Given the description of an element on the screen output the (x, y) to click on. 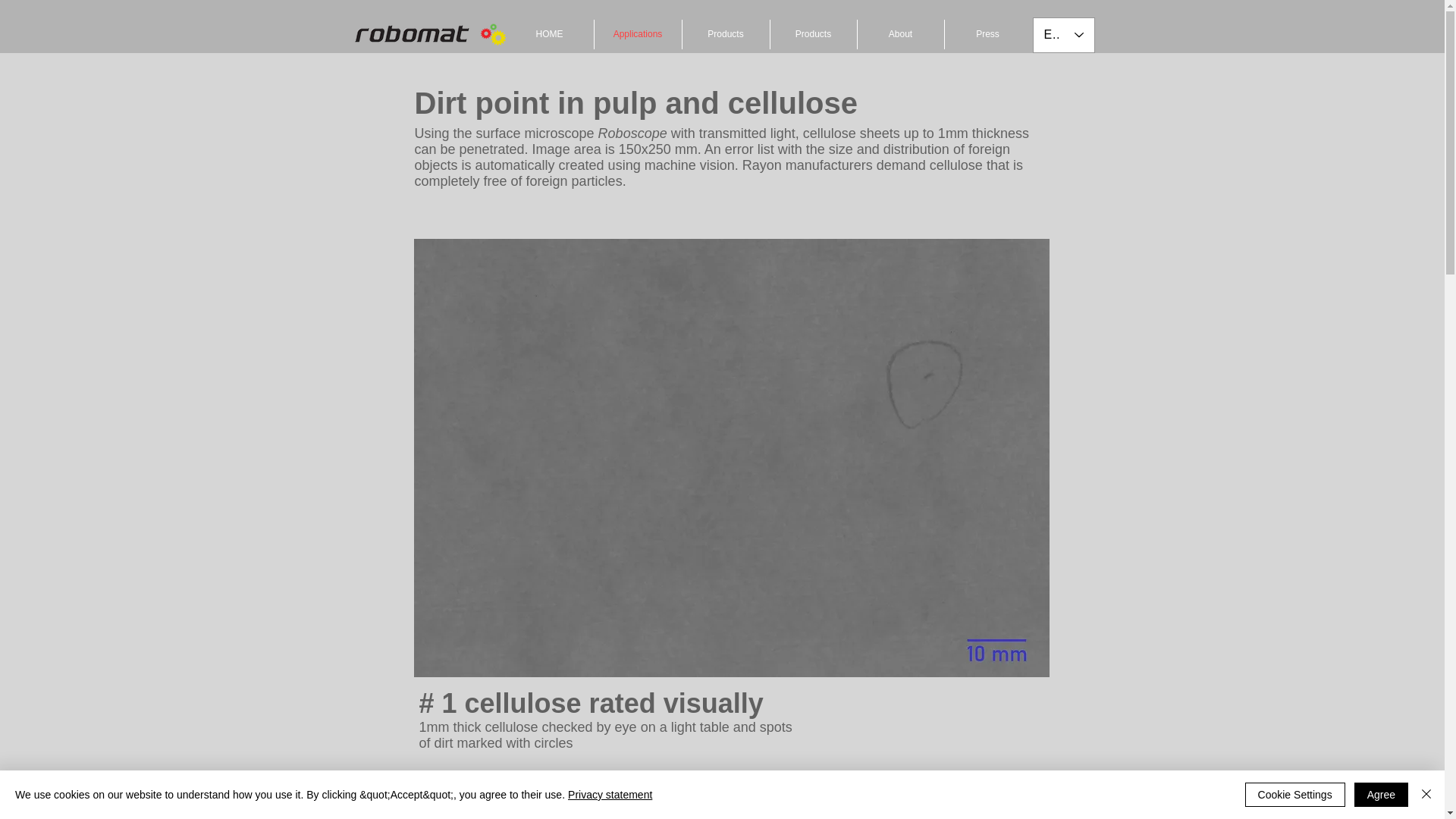
About (900, 34)
Products (726, 34)
Applications (637, 34)
Privacy statement (609, 794)
Cookie Settings (1294, 794)
Press (987, 34)
Agree (1380, 794)
Products (813, 34)
HOME (548, 34)
